Given the description of an element on the screen output the (x, y) to click on. 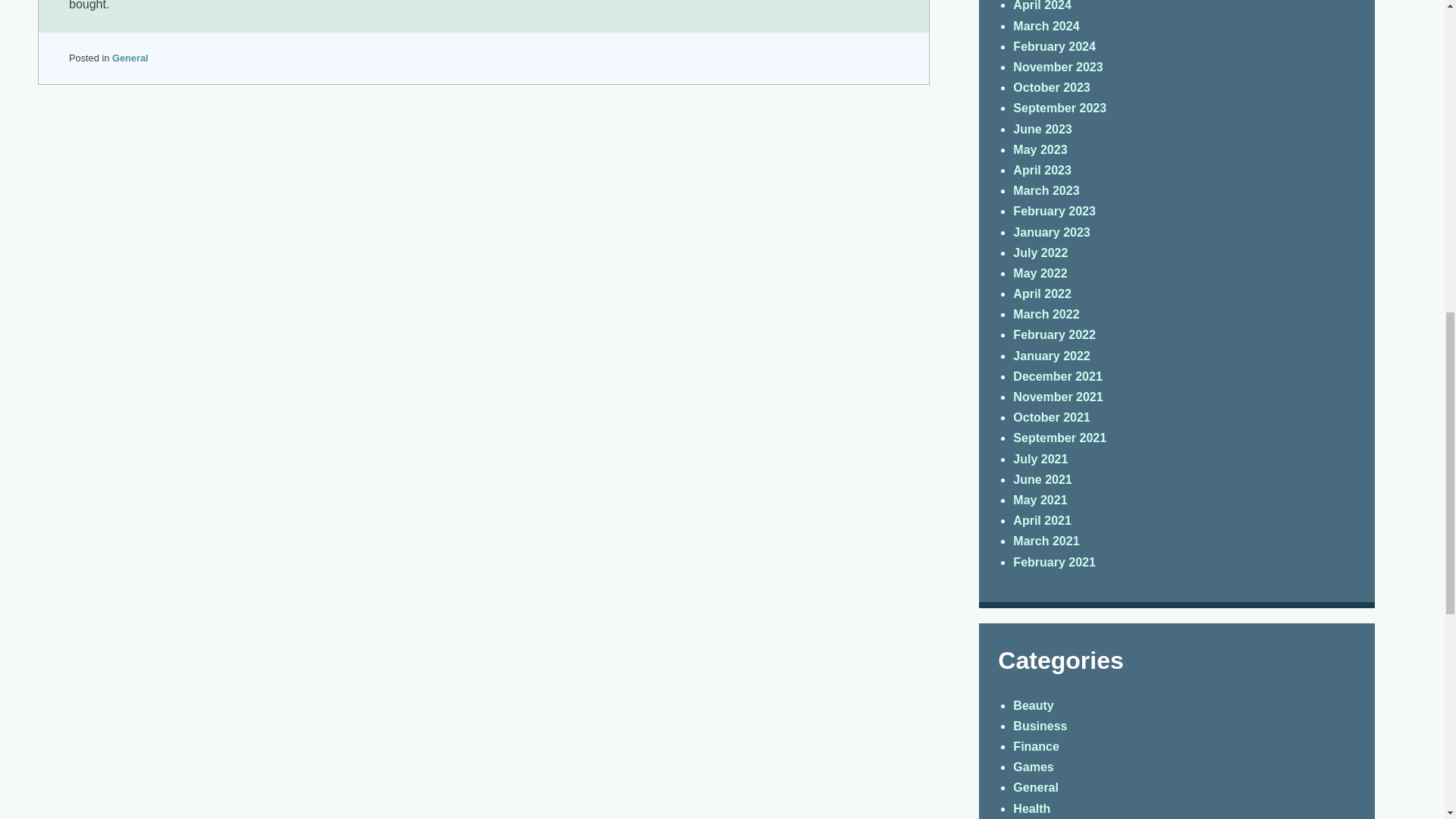
January 2022 (1051, 355)
April 2023 (1041, 169)
February 2024 (1054, 46)
April 2024 (1041, 5)
May 2023 (1040, 149)
November 2021 (1057, 396)
March 2024 (1045, 25)
December 2021 (1057, 376)
June 2023 (1042, 128)
March 2023 (1045, 190)
